Given the description of an element on the screen output the (x, y) to click on. 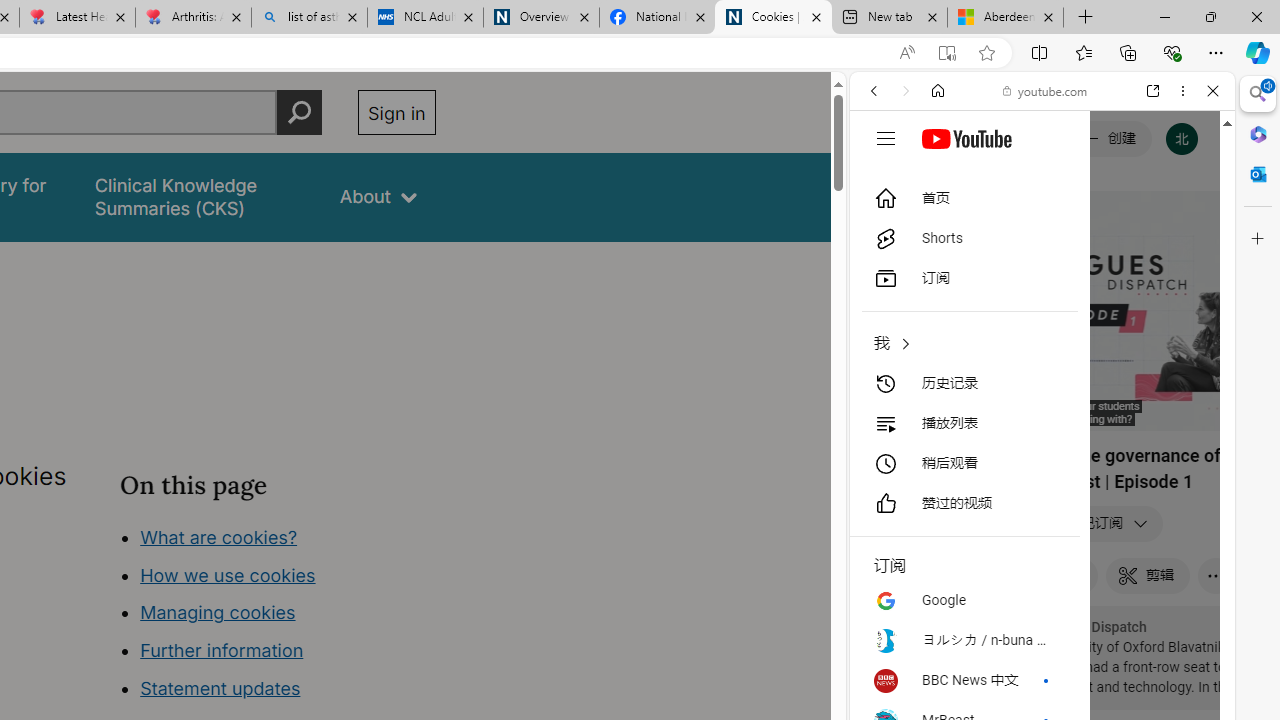
Shorts (963, 238)
SEARCH TOOLS (1093, 228)
What are cookies? (218, 536)
Class: ytp-subtitles-button-icon (1127, 412)
Class: in-page-nav__list (277, 615)
How we use cookies (227, 574)
Search Filter, IMAGES (939, 228)
Open link in new tab (1153, 91)
IMAGES (939, 228)
